Given the description of an element on the screen output the (x, y) to click on. 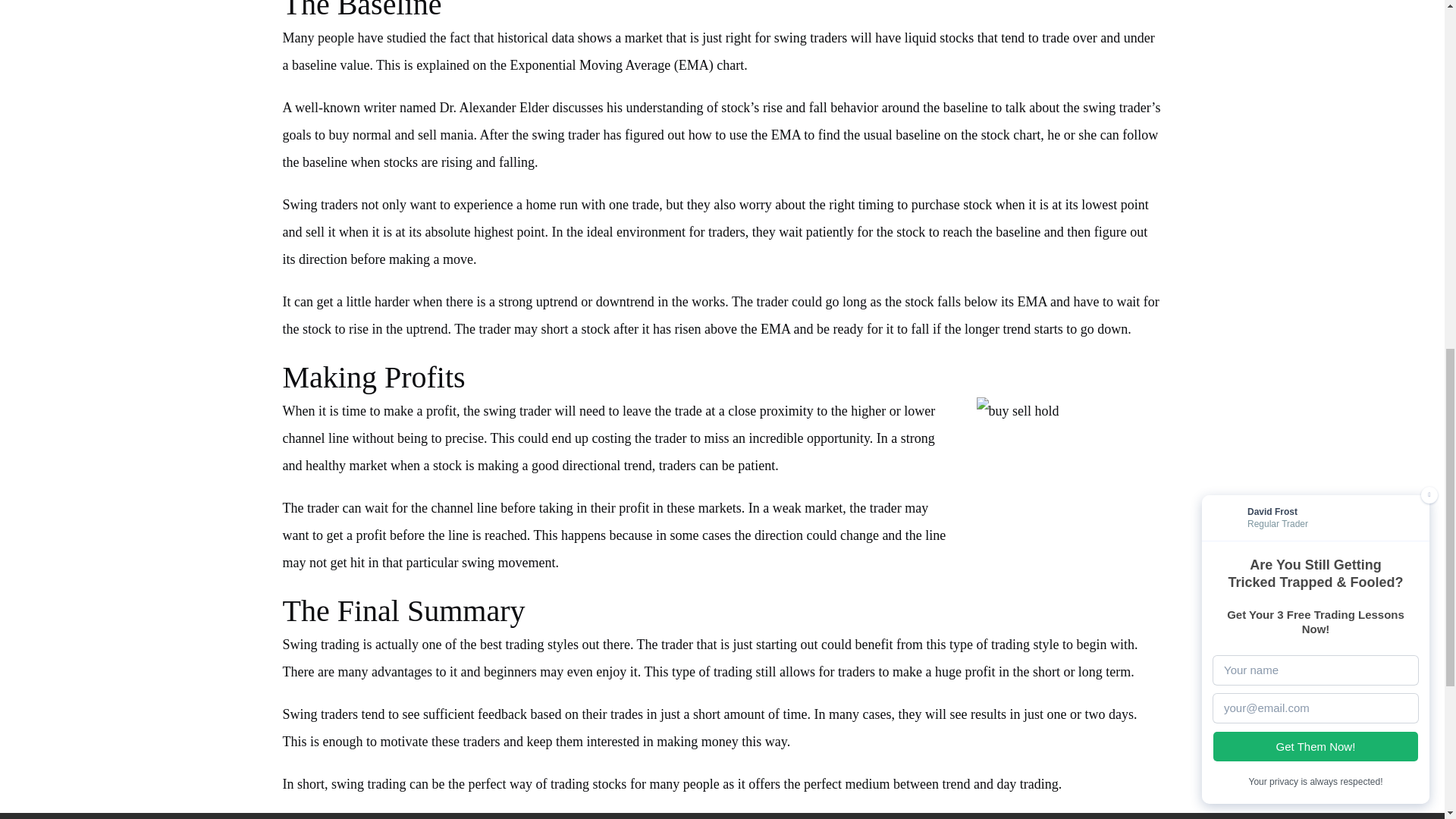
trading stocks (588, 783)
Exponential Moving Average (592, 64)
